Given the description of an element on the screen output the (x, y) to click on. 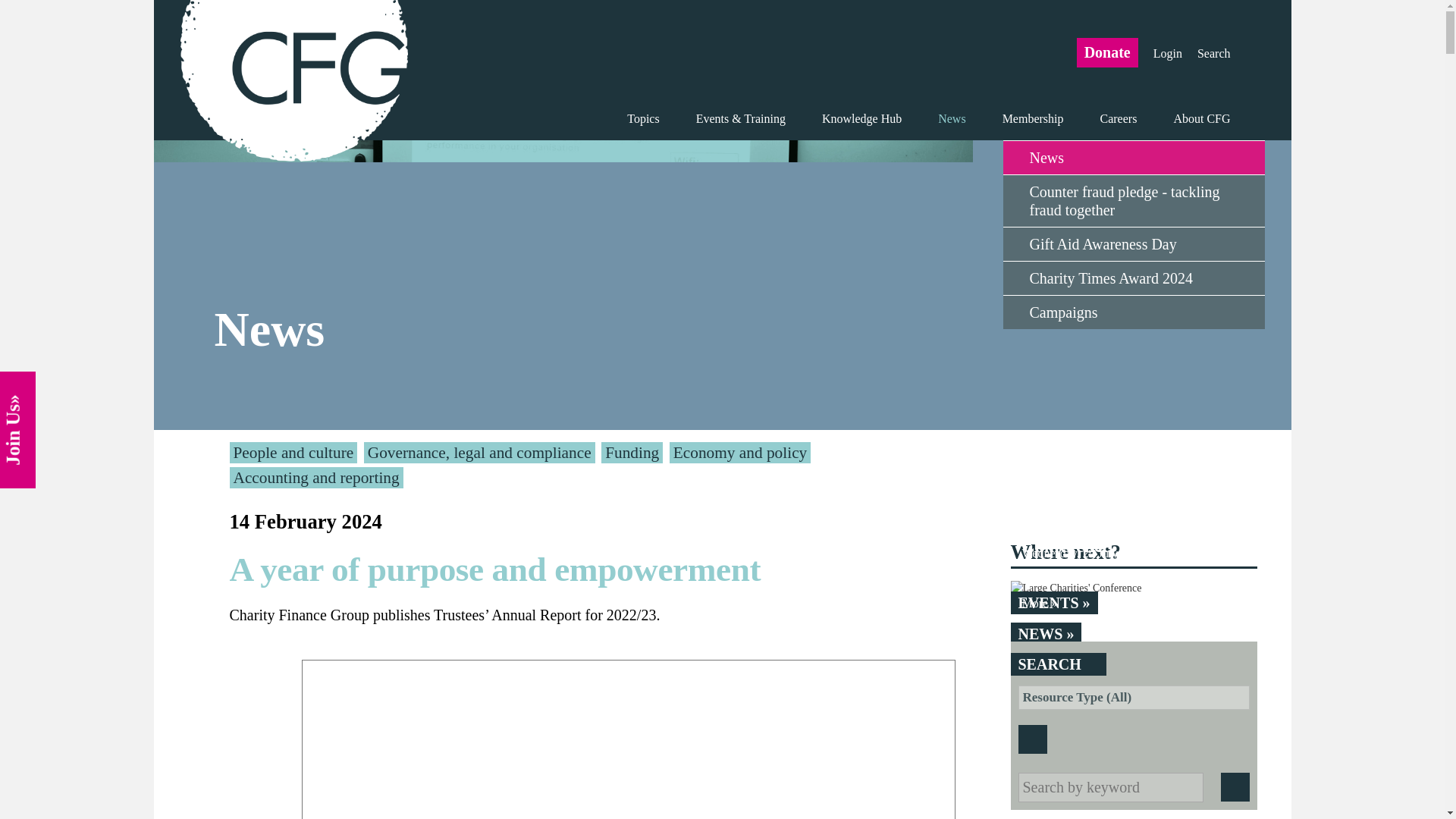
Campaigns (1133, 311)
Login (1167, 52)
Careers (1118, 118)
Search (1213, 52)
About CFG (1192, 118)
Gift Aid Awareness Day (1133, 243)
Knowledge Hub (861, 118)
Login (1167, 52)
Charity Times Award 2024 (1133, 277)
Search (1213, 52)
More (1126, 603)
News (1133, 157)
Topics (642, 118)
Donate (1107, 52)
Home (293, 82)
